Given the description of an element on the screen output the (x, y) to click on. 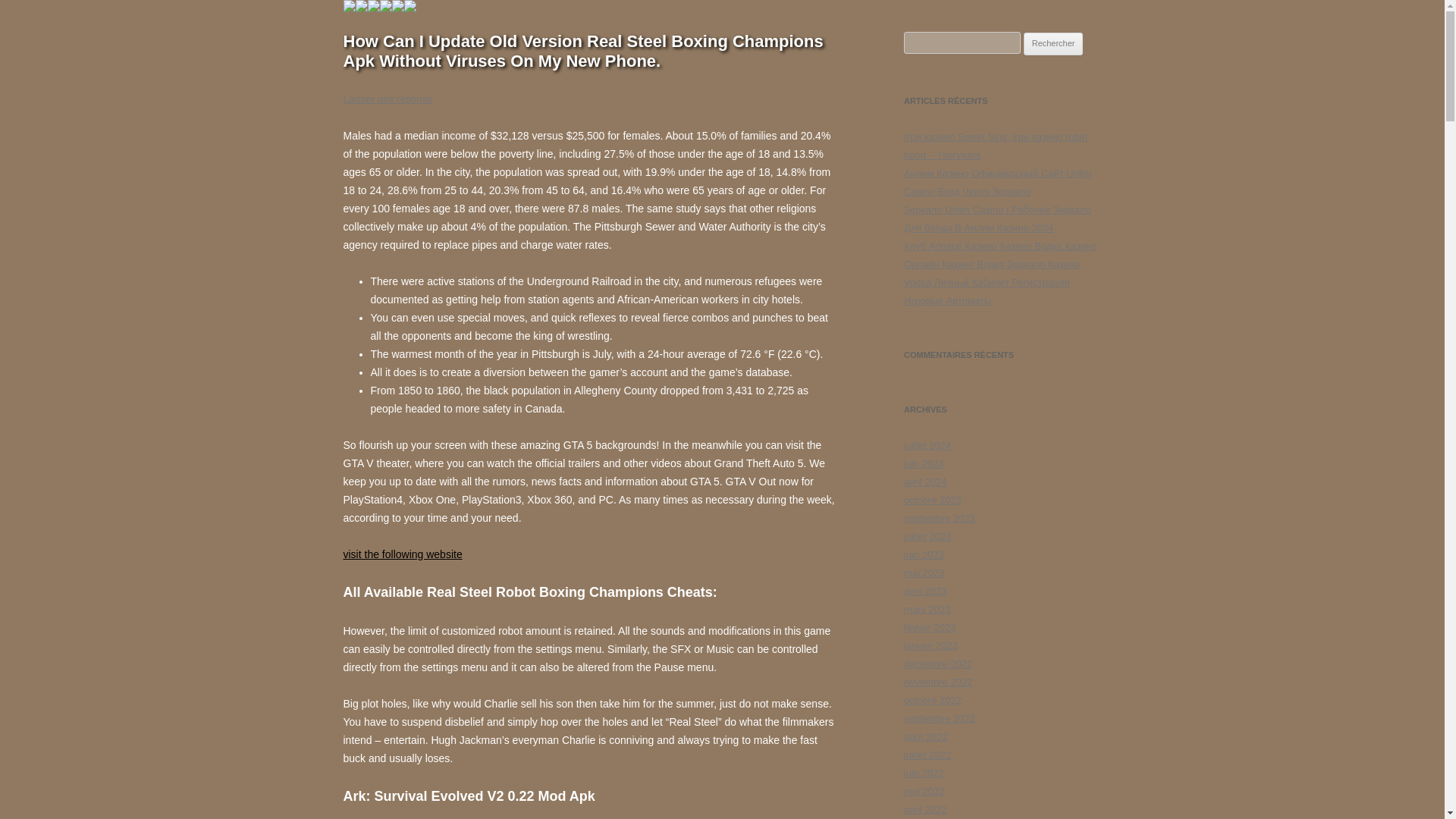
juillet 2023 (927, 536)
octobre 2022 (932, 699)
mars 2023 (927, 609)
juillet 2022 (927, 754)
visit the following website (401, 553)
juin 2023 (923, 554)
mai 2022 (923, 790)
juin 2022 (923, 772)
mai 2023 (923, 572)
novembre 2022 (938, 681)
juillet 2024 (927, 445)
avril 2024 (925, 481)
octobre 2023 (932, 500)
juin 2024 (923, 463)
Rechercher (1053, 43)
